Given the description of an element on the screen output the (x, y) to click on. 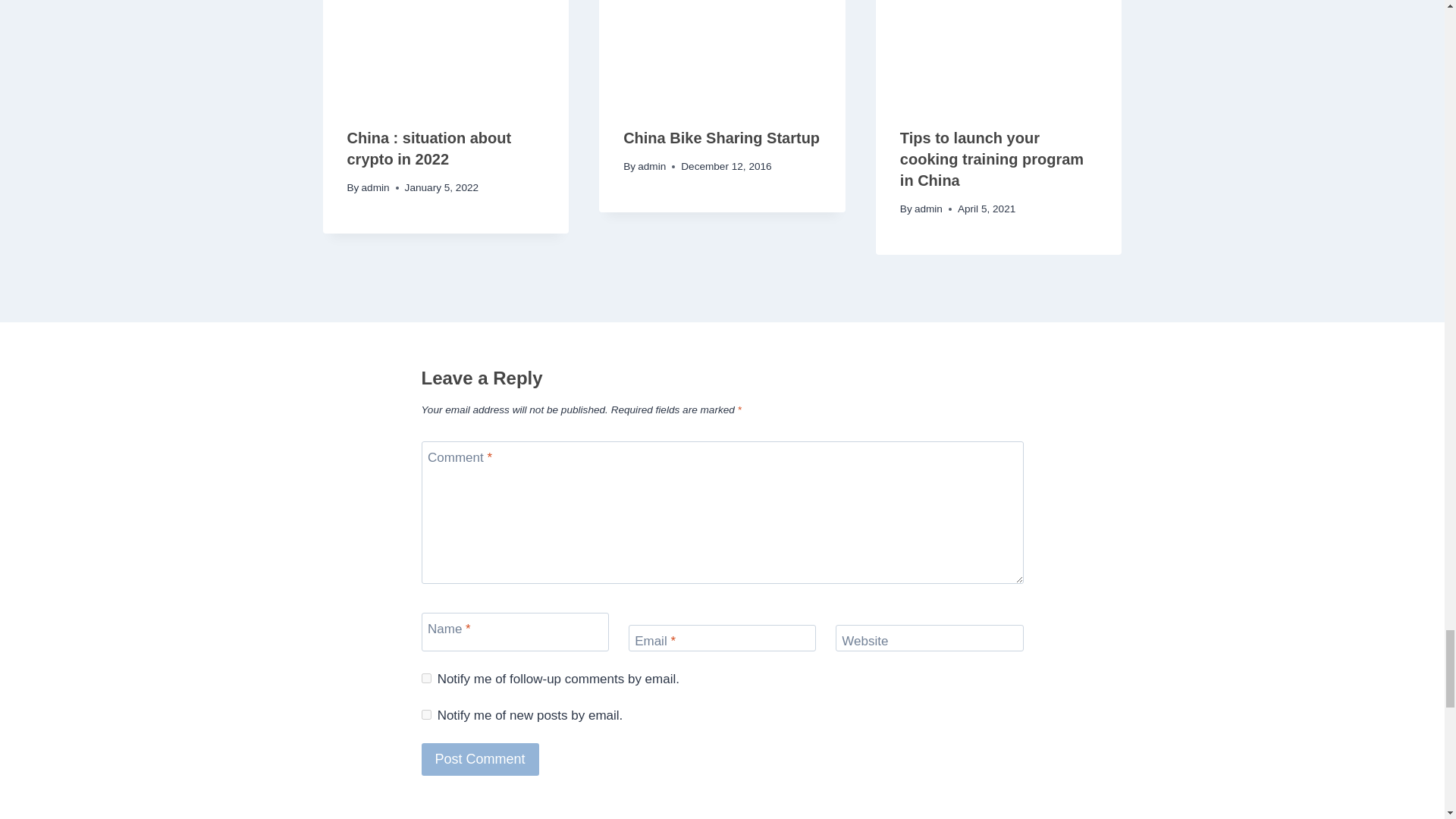
subscribe (426, 714)
Post Comment (480, 758)
subscribe (426, 678)
